Given the description of an element on the screen output the (x, y) to click on. 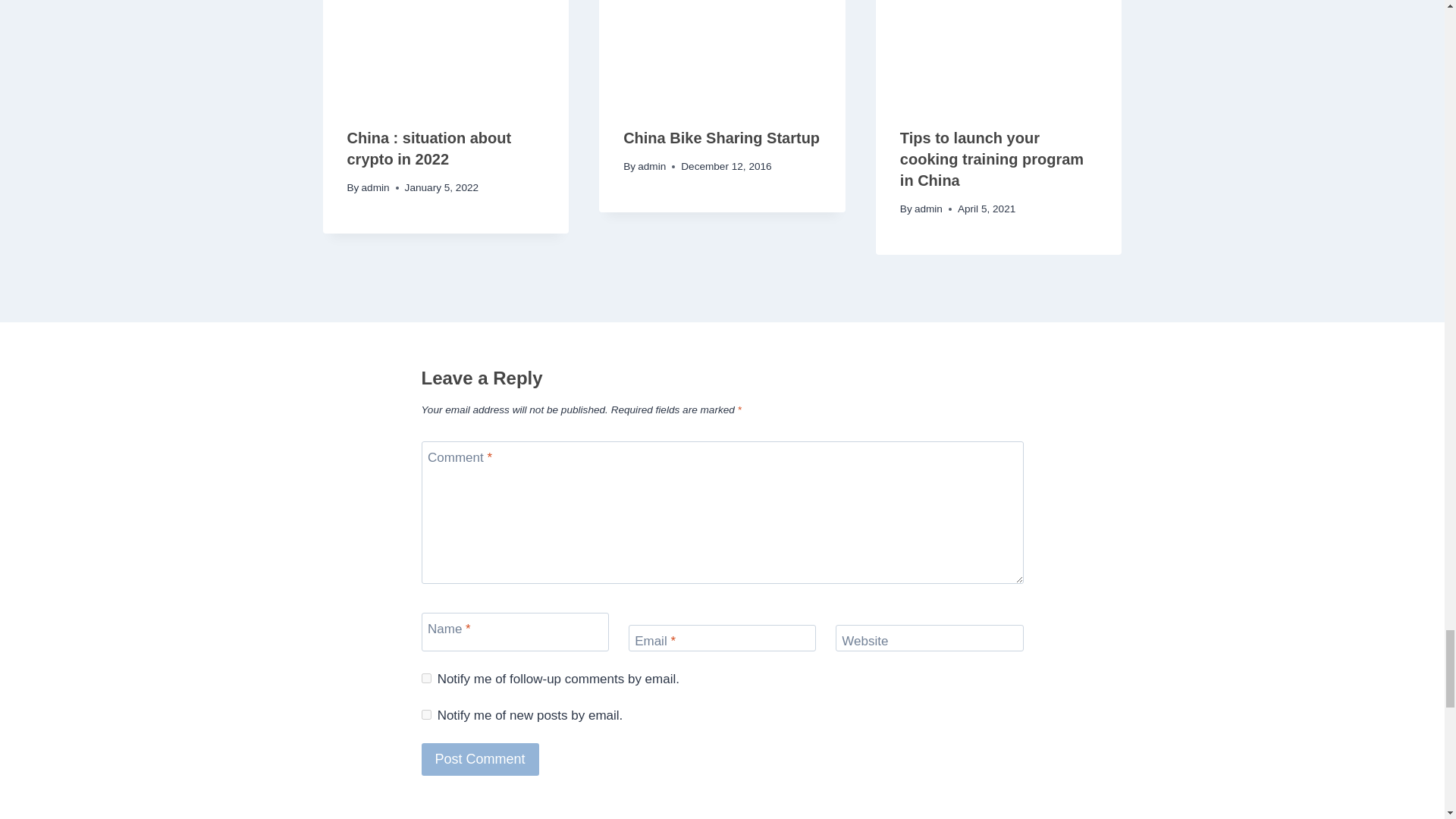
subscribe (426, 714)
Post Comment (480, 758)
subscribe (426, 678)
